Given the description of an element on the screen output the (x, y) to click on. 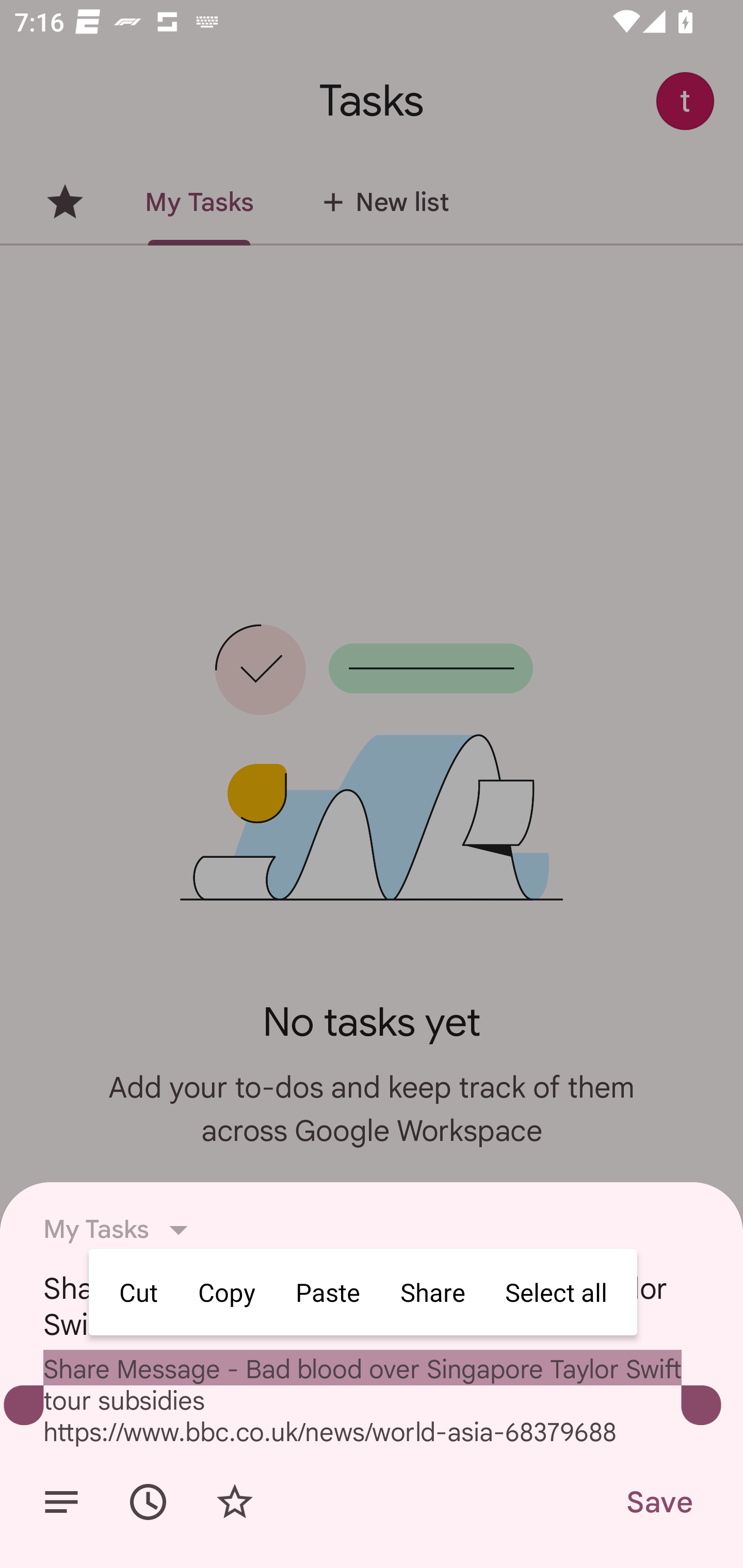
My Tasks List, My Tasks selected, 1 of 1 (121, 1229)
Save (659, 1501)
Add details (60, 1501)
Set date/time (147, 1501)
Add star (234, 1501)
